Given the description of an element on the screen output the (x, y) to click on. 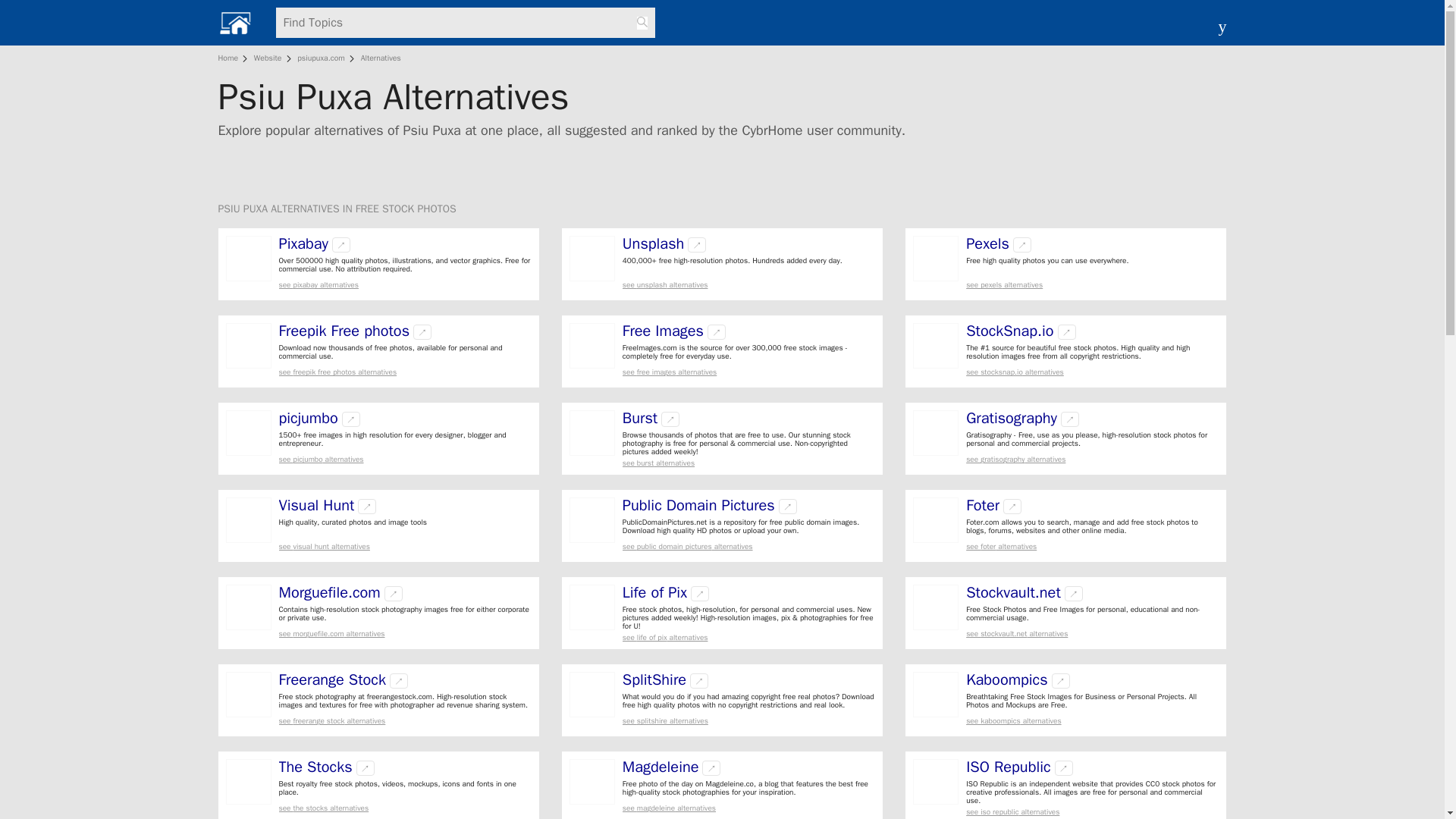
FREE STOCK PHOTOS (406, 208)
Free Images (663, 330)
see burst alternatives (749, 462)
picjumbo (308, 418)
see picjumbo alternatives (405, 459)
Home (230, 57)
PSIU PUXA (244, 208)
see pixabay alternatives (405, 284)
psiupuxa.com (320, 57)
StockSnap.io (1009, 330)
Unsplash (653, 243)
see unsplash alternatives (749, 284)
Pexels (987, 243)
see stocksnap.io alternatives (1092, 371)
see free images alternatives (749, 371)
